Given the description of an element on the screen output the (x, y) to click on. 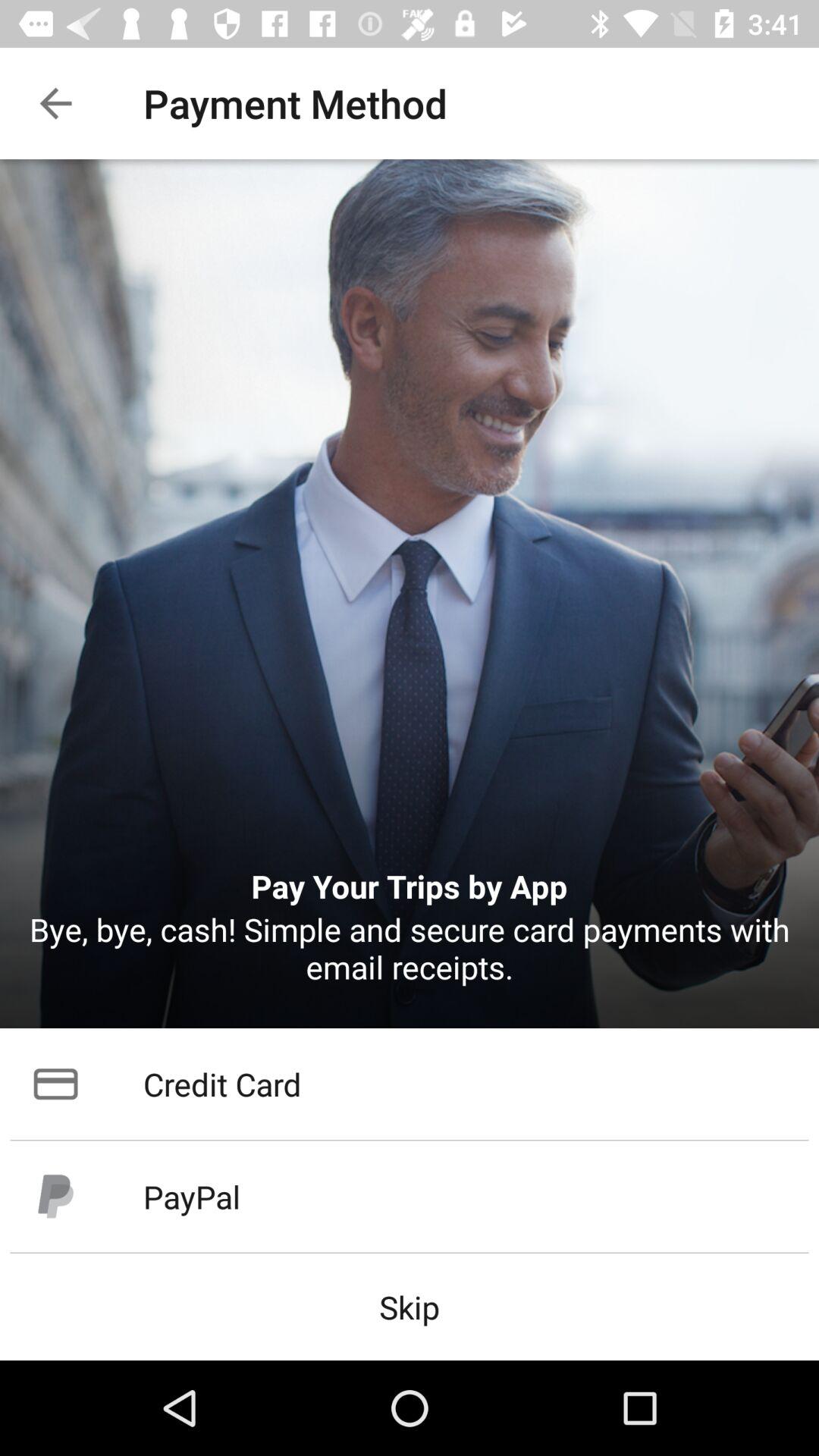
open the item above paypal (409, 1083)
